Given the description of an element on the screen output the (x, y) to click on. 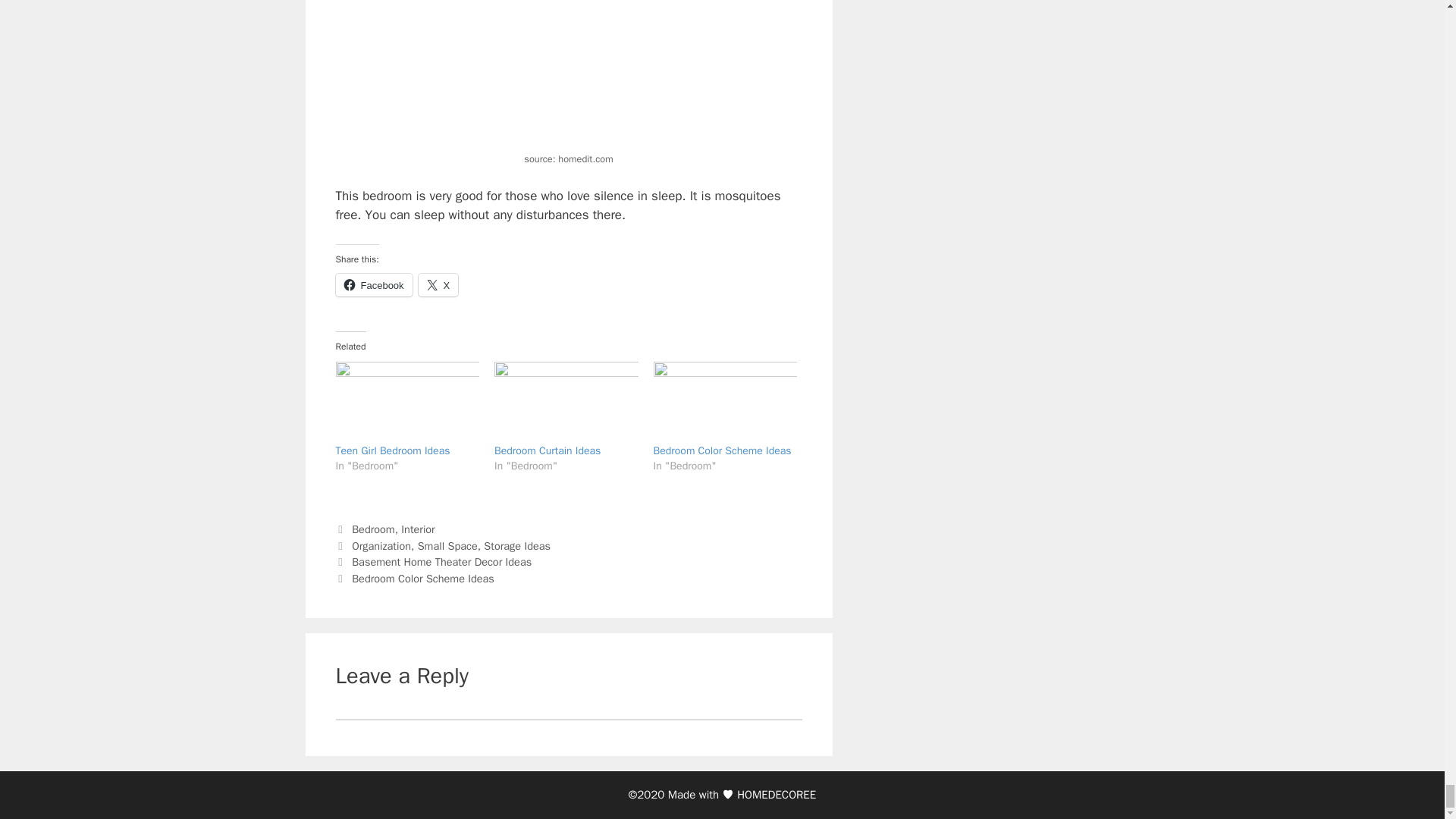
Facebook (373, 284)
Organization (381, 545)
Bedroom Color Scheme Ideas (722, 450)
Storage Ideas (516, 545)
Teen Girl Bedroom Ideas (391, 450)
Interior (417, 529)
Bedroom (373, 529)
Bedroom Curtain Ideas (547, 450)
Small Space (447, 545)
X (438, 284)
